Given the description of an element on the screen output the (x, y) to click on. 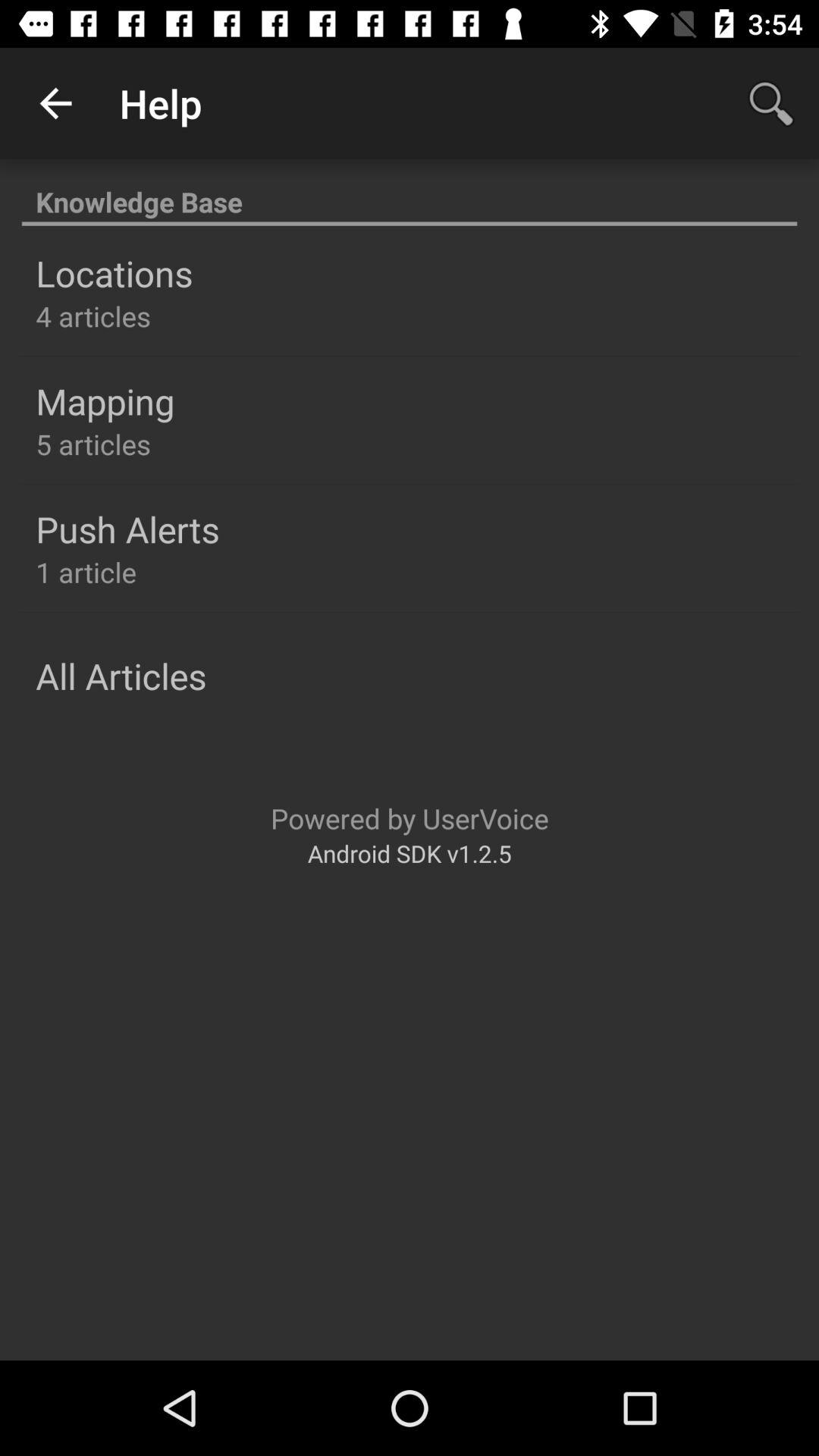
swipe until the 5 articles (92, 443)
